Given the description of an element on the screen output the (x, y) to click on. 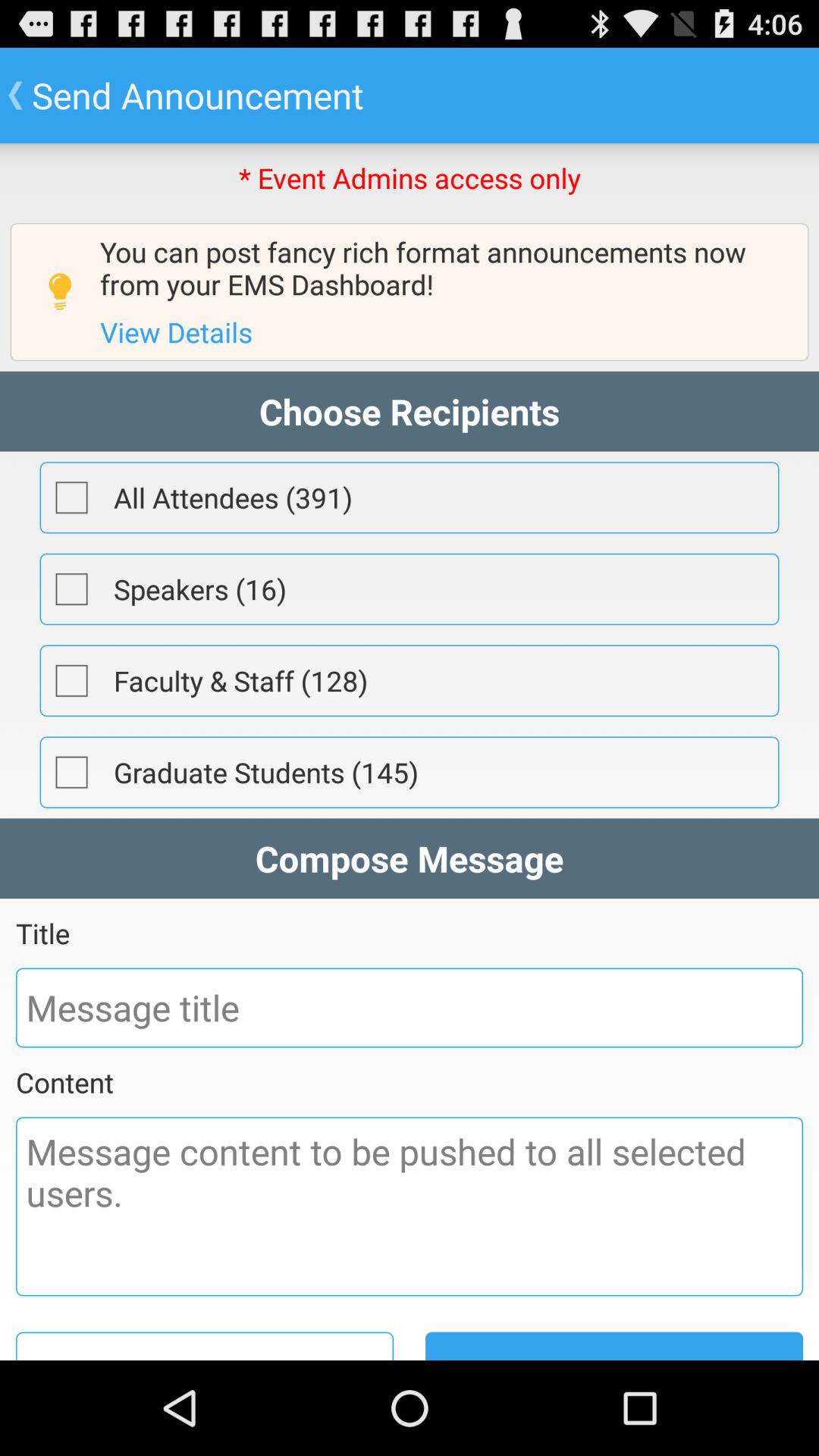
check mark this box (71, 497)
